Given the description of an element on the screen output the (x, y) to click on. 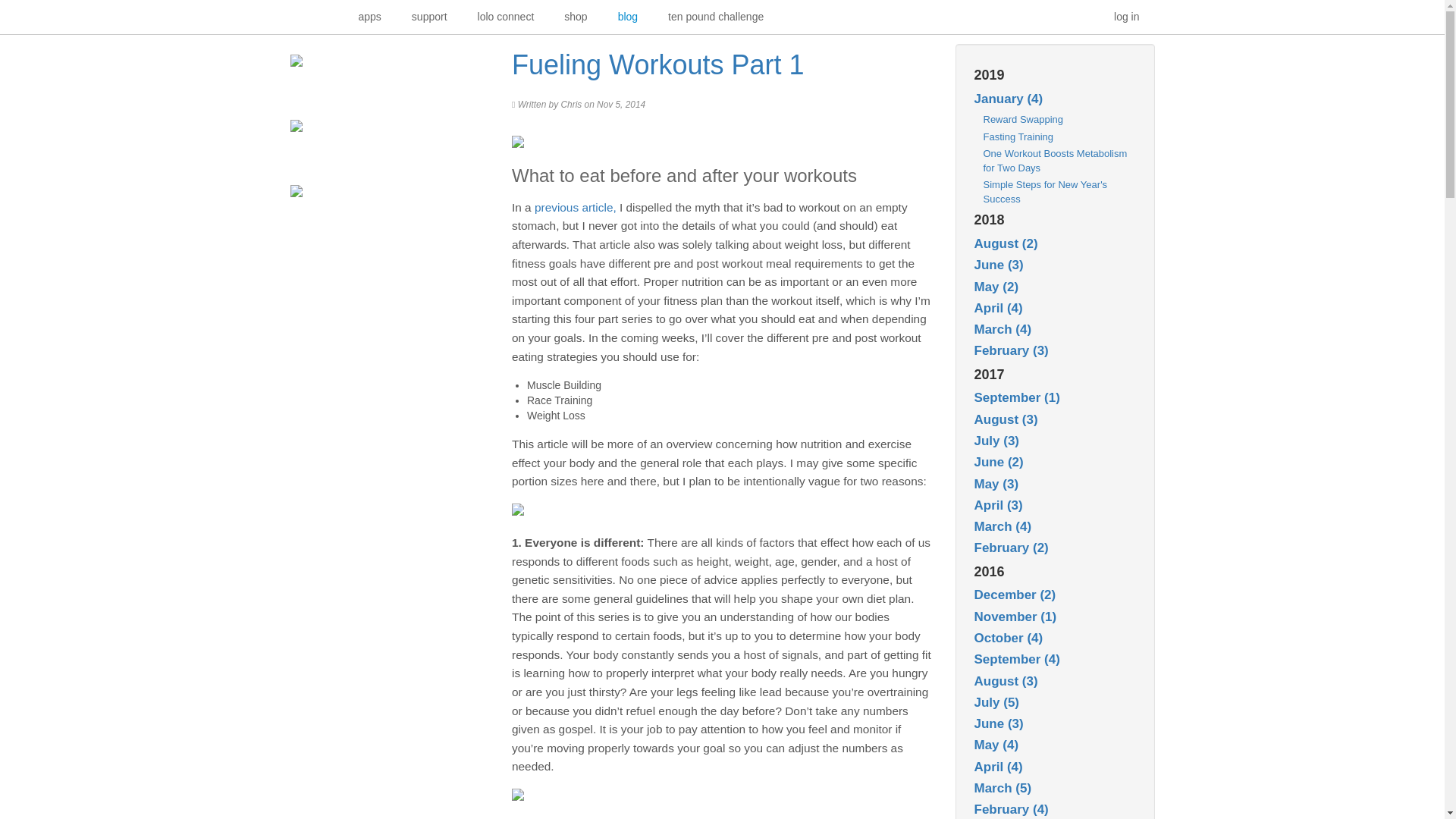
Reward Swapping (1022, 119)
log in (1126, 17)
previous article, (574, 206)
blog (627, 17)
shop (575, 17)
apps (369, 17)
Fueling Workouts Part 1 (658, 64)
One Workout Boosts Metabolism for Two Days (1054, 160)
support (429, 17)
Fasting Training (1017, 136)
lolo connect (506, 17)
Simple Steps for New Year's Success (1044, 191)
ten pound challenge (715, 17)
